Given the description of an element on the screen output the (x, y) to click on. 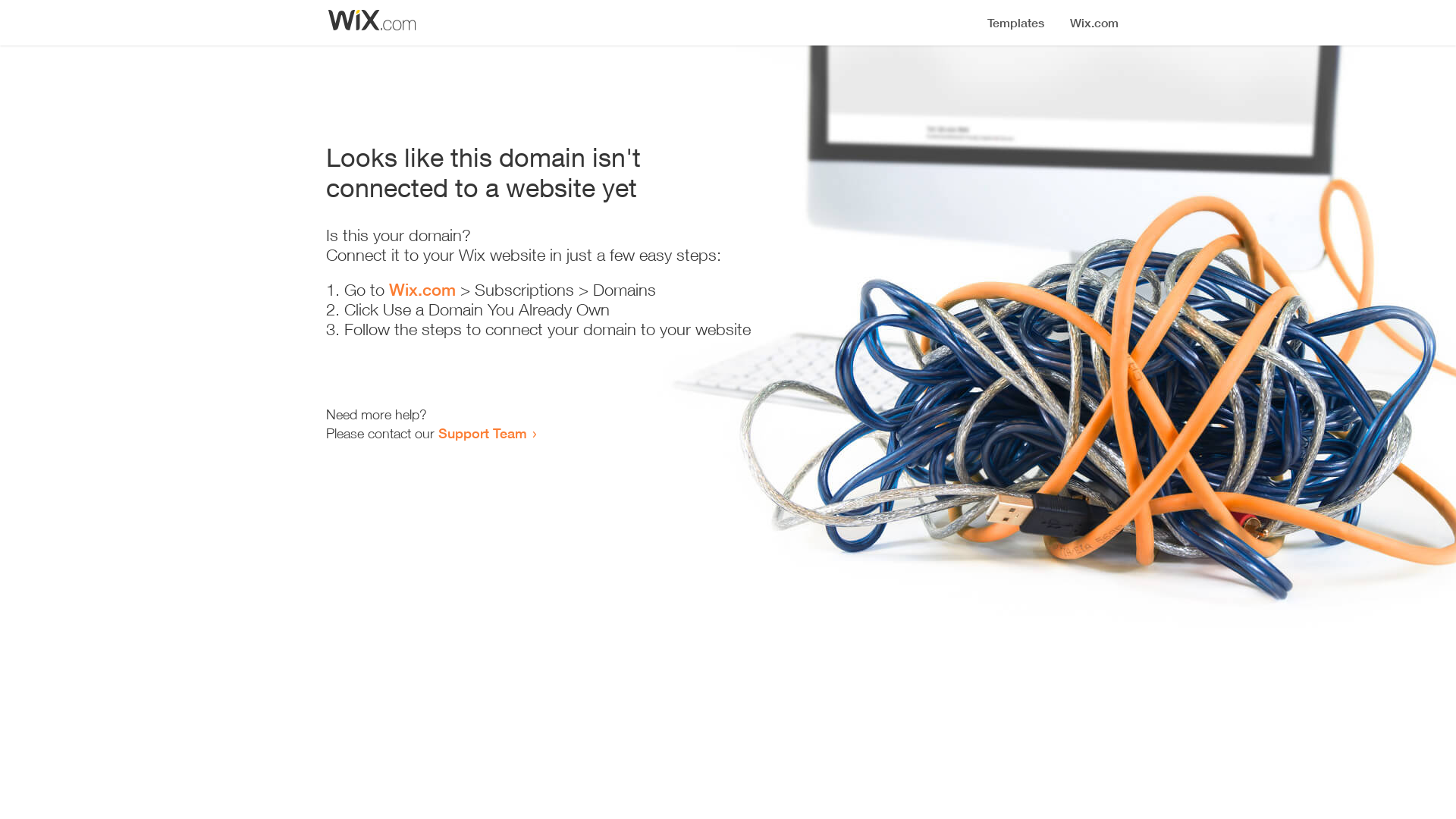
Wix.com Element type: text (422, 289)
Support Team Element type: text (482, 432)
